Given the description of an element on the screen output the (x, y) to click on. 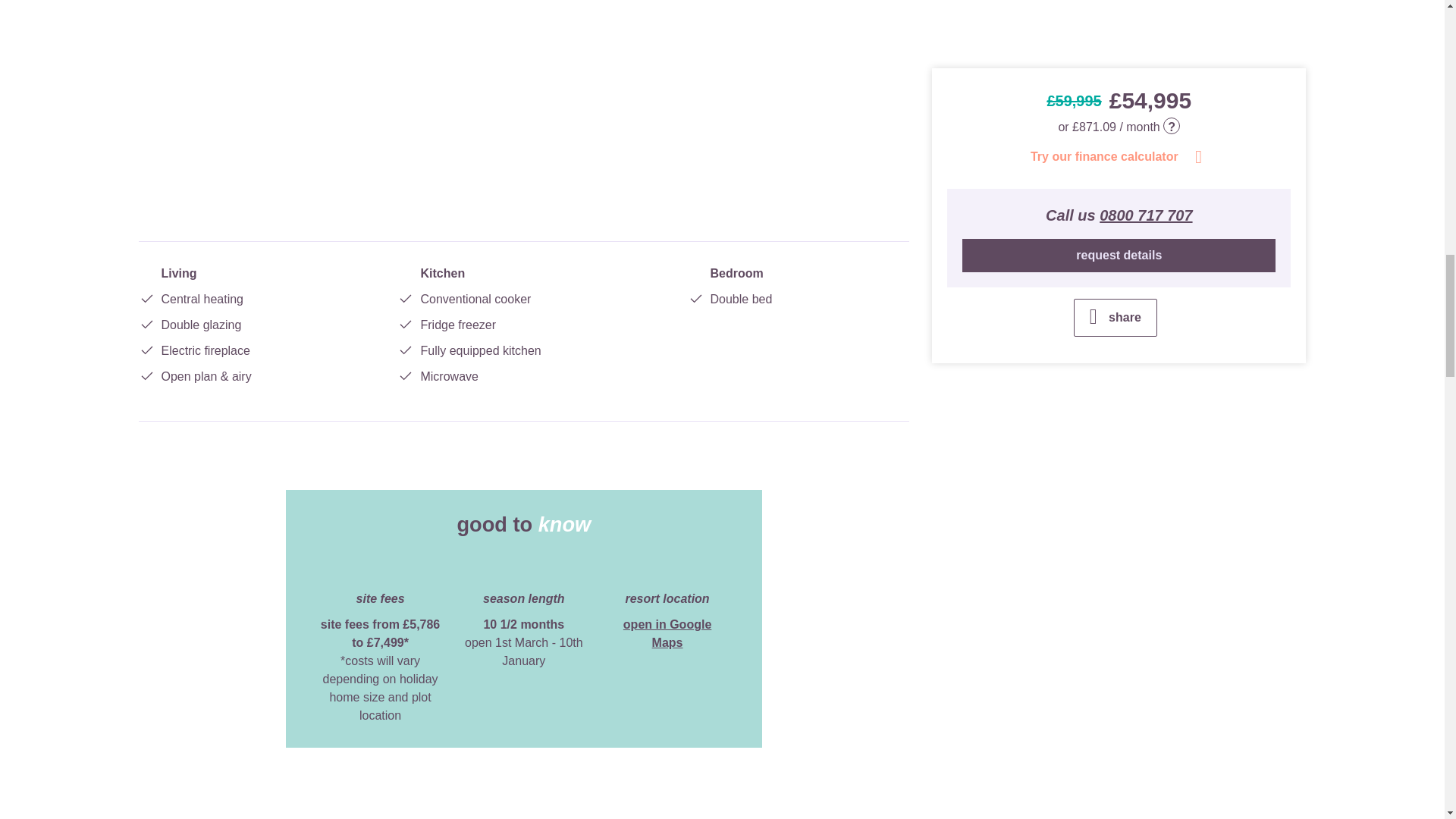
site fees (380, 569)
resort location (667, 569)
season length (523, 569)
